Given the description of an element on the screen output the (x, y) to click on. 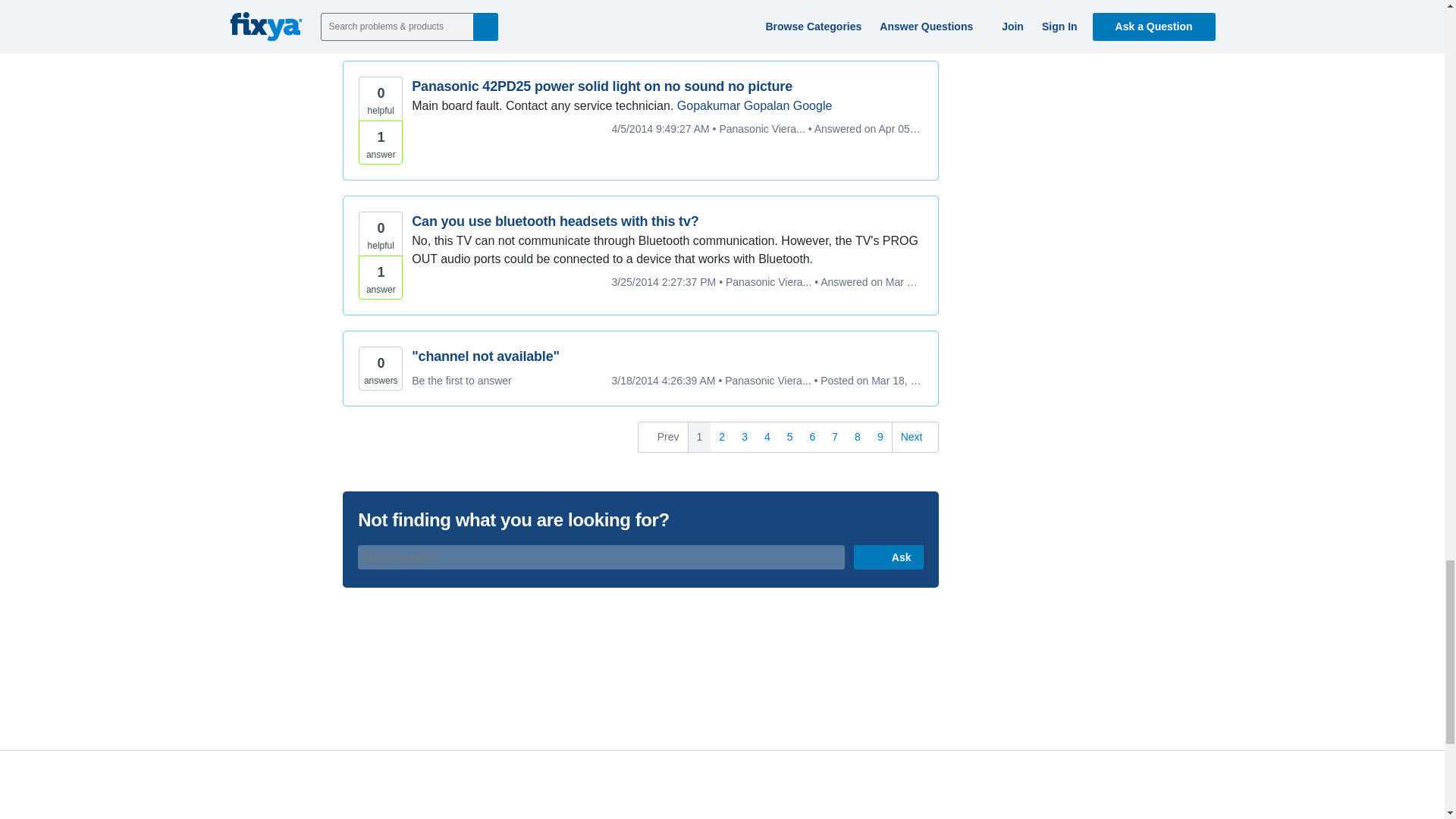
Ask (888, 557)
